Given the description of an element on the screen output the (x, y) to click on. 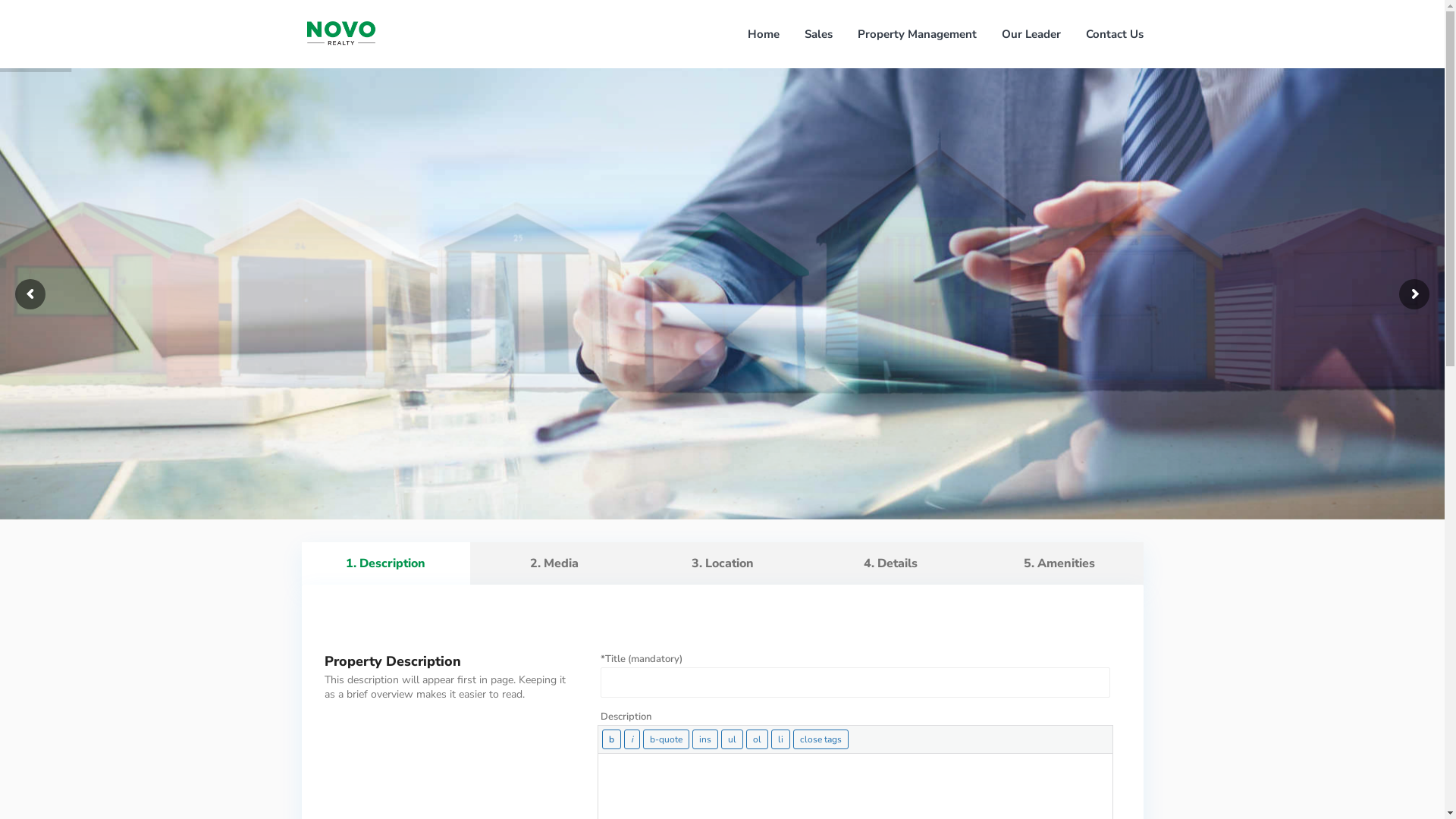
4. Details Element type: text (890, 563)
Our Leader Element type: text (1031, 34)
3. Location Element type: text (722, 563)
Close all open tags Element type: hover (820, 739)
2. Media Element type: text (554, 563)
Contact Us Element type: text (1113, 34)
5. Amenities Element type: text (1059, 563)
Sales Element type: text (818, 34)
Home Element type: text (762, 34)
1. Description Element type: text (385, 563)
Property Management Element type: text (917, 34)
